Given the description of an element on the screen output the (x, y) to click on. 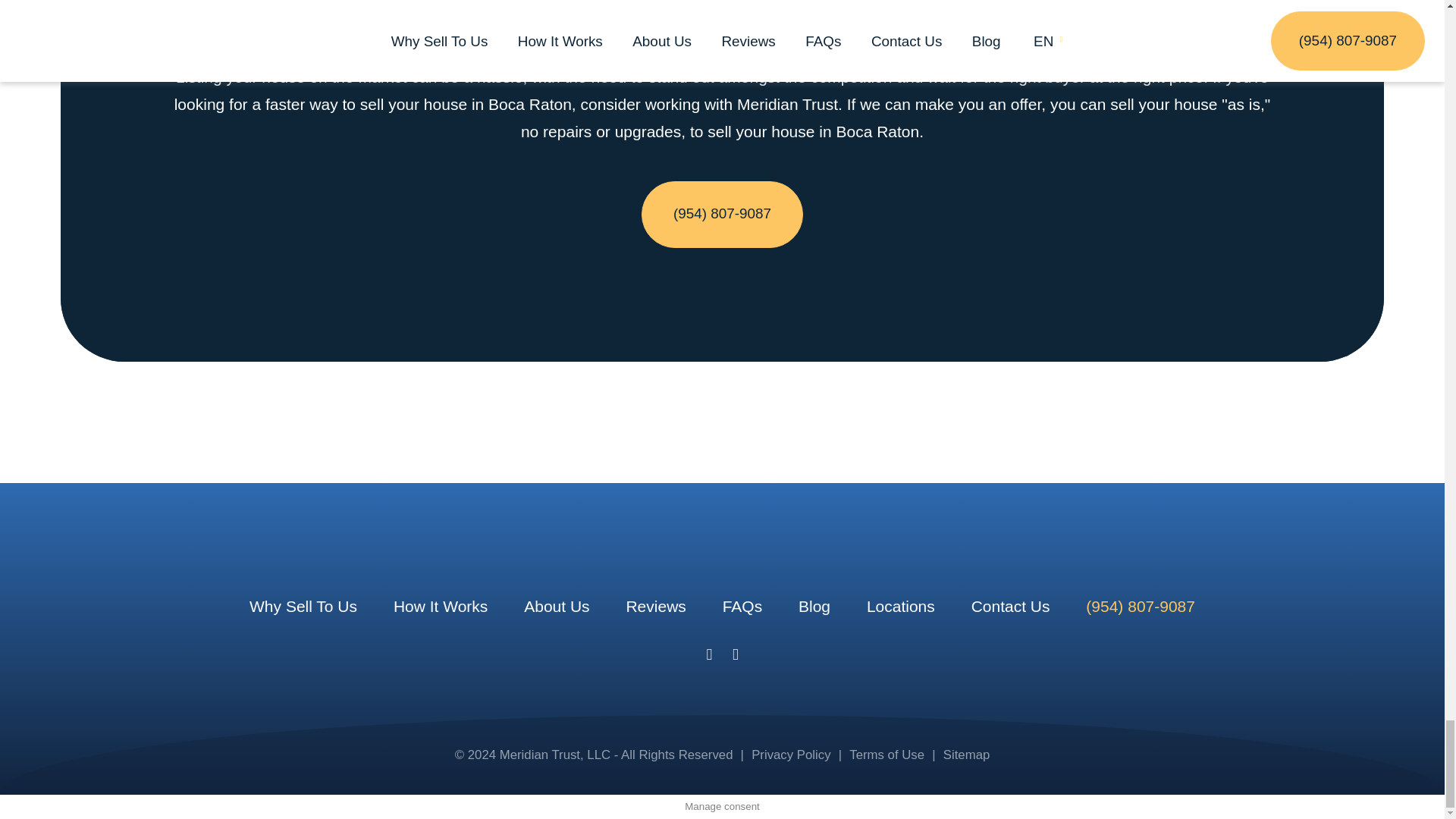
Meridian Trust (721, 564)
Why Sell To Us (302, 606)
How It Works (440, 606)
Reviews (655, 606)
FAQs (742, 606)
Contact Us (1010, 606)
Locations (900, 606)
About Us (556, 606)
Blog (813, 606)
